Given the description of an element on the screen output the (x, y) to click on. 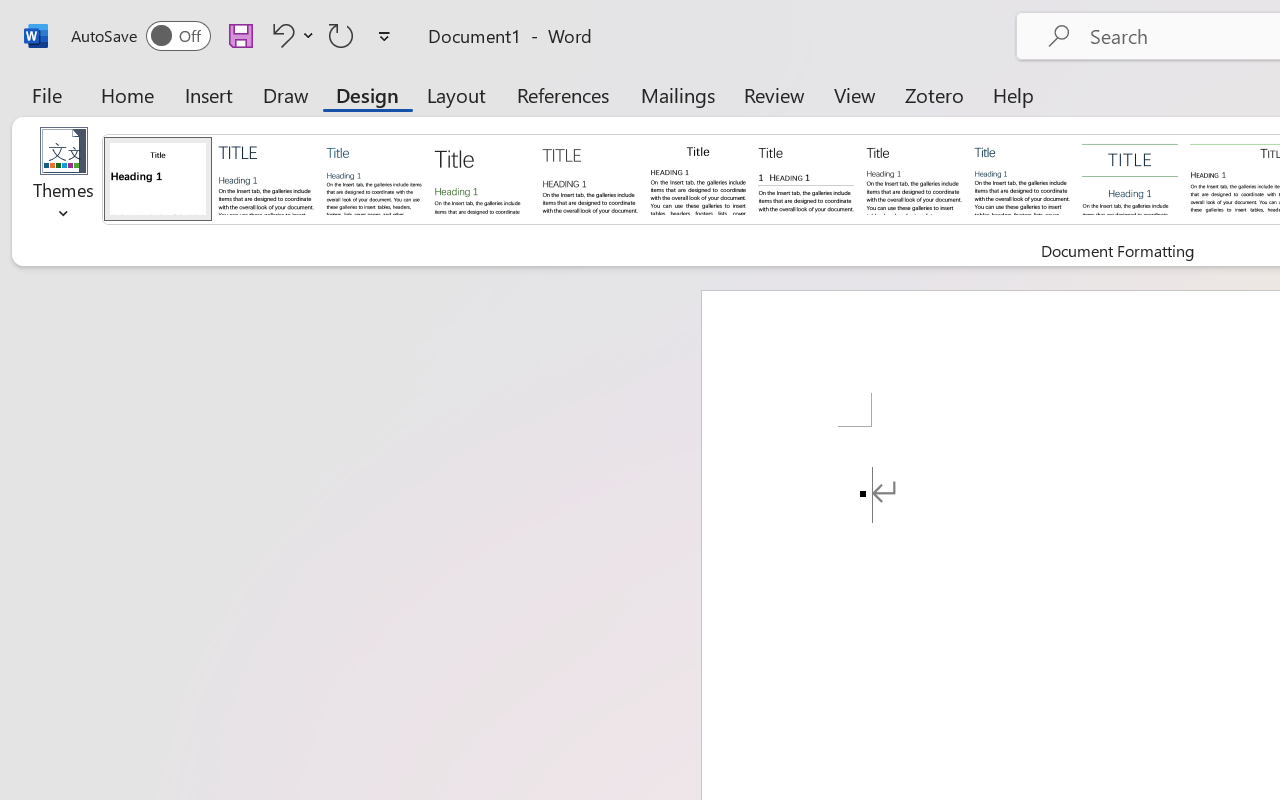
Basic (Elegant) (266, 178)
Themes (63, 179)
Centered (1130, 178)
